Given the description of an element on the screen output the (x, y) to click on. 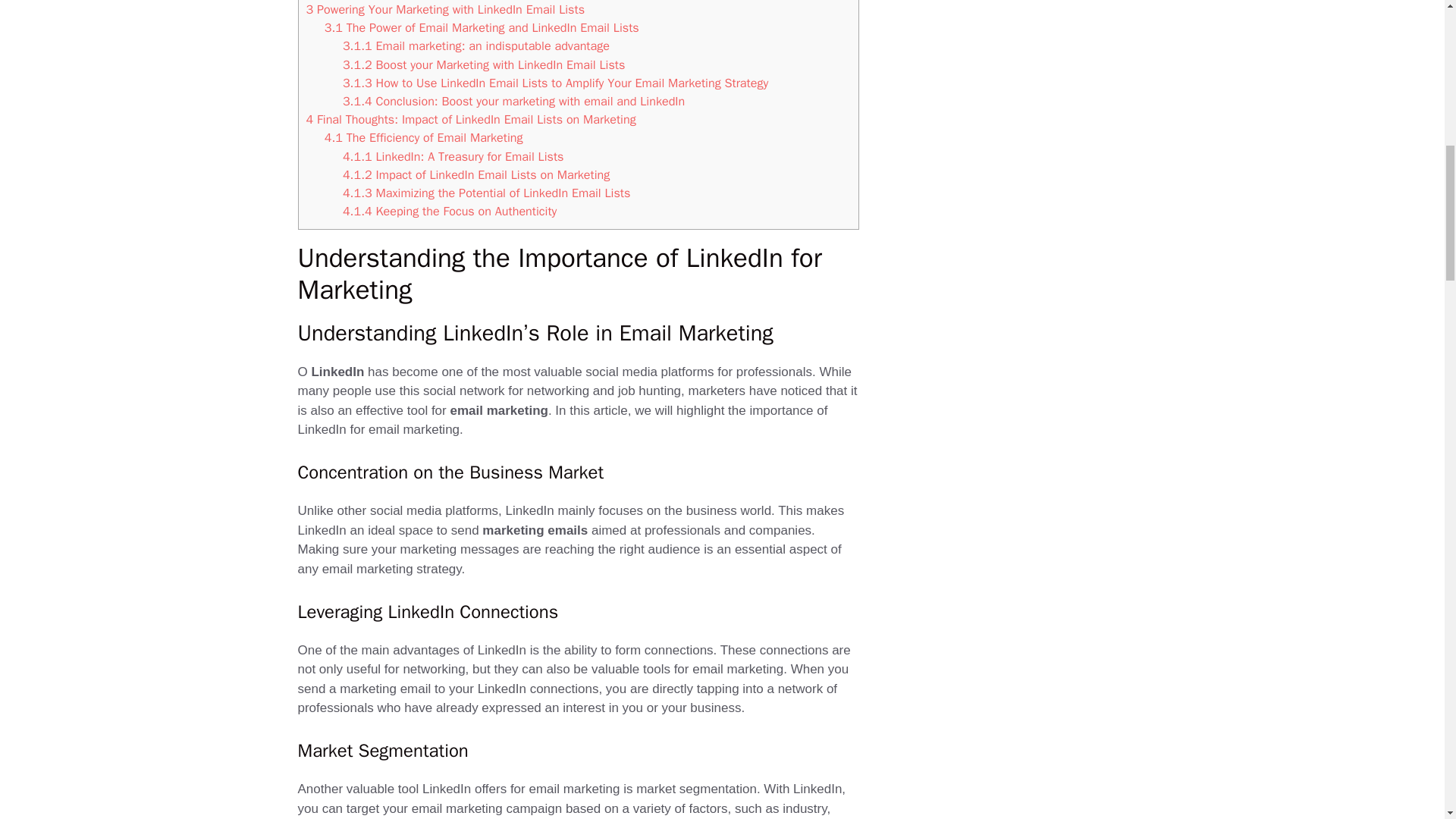
3.1.1 Email marketing: an indisputable advantage (476, 45)
4.1 The Efficiency of Email Marketing (423, 137)
3.1.2 Boost your Marketing with LinkedIn Email Lists (483, 64)
4.1.3 Maximizing the Potential of LinkedIn Email Lists (486, 192)
3.1 The Power of Email Marketing and LinkedIn Email Lists (481, 27)
4.1.1 LinkedIn: A Treasury for Email Lists (453, 156)
3 Powering Your Marketing with LinkedIn Email Lists (445, 9)
4.1.2 Impact of LinkedIn Email Lists on Marketing (476, 174)
